Given the description of an element on the screen output the (x, y) to click on. 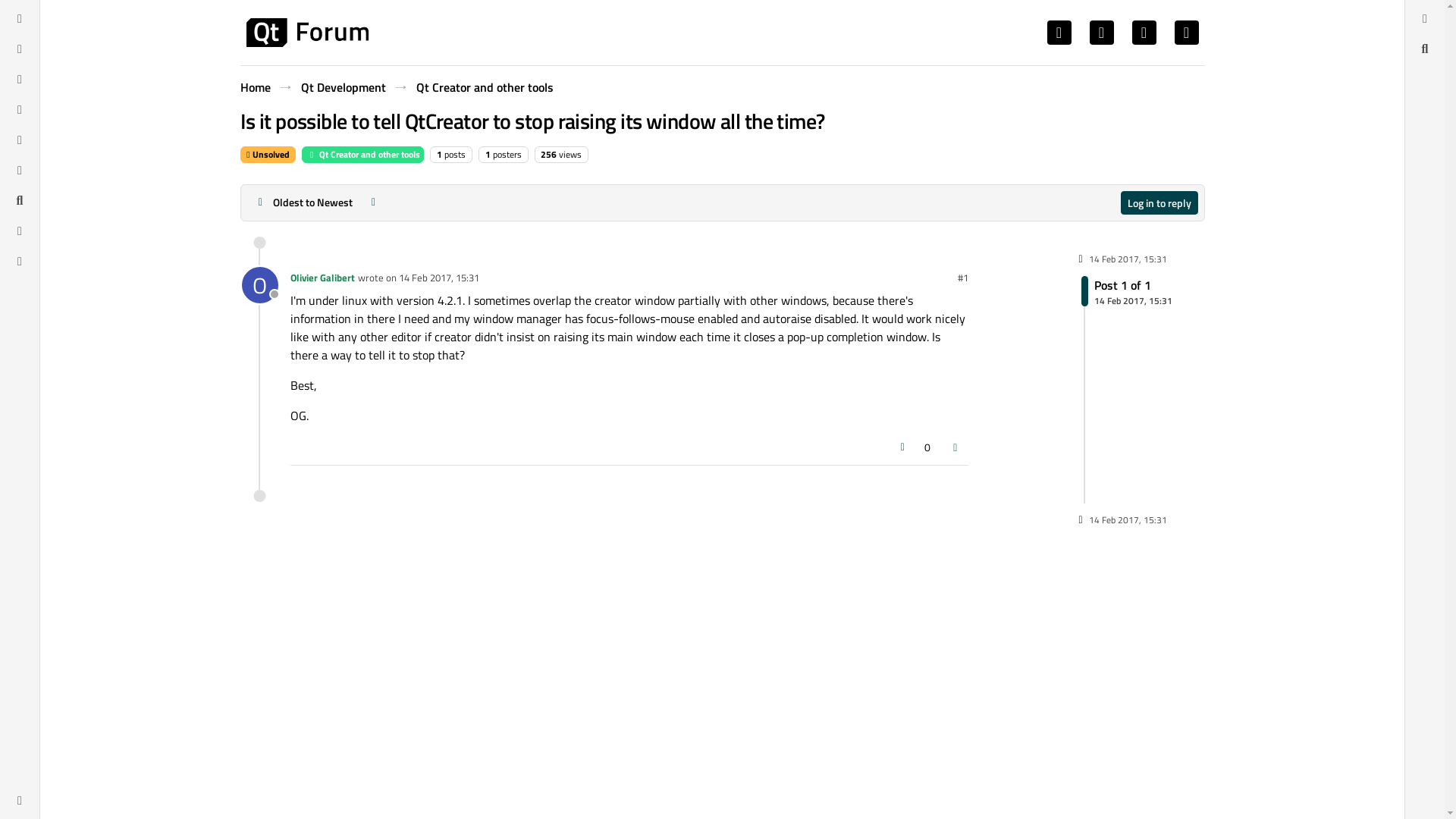
Olivier Galibert (321, 277)
Brand Logo (307, 32)
14 Feb 2017, 15:31 (438, 277)
Oldest to Newest (303, 201)
Home (254, 86)
Qt Creator and other tools (1126, 291)
Log in to reply (362, 154)
256 (1159, 202)
Olivier Galibert (548, 154)
14 Feb 2017, 15:31 (259, 284)
Qt Development (438, 277)
Upvote post (342, 86)
2017-02-14T07:31:47.272Z (259, 284)
